Given the description of an element on the screen output the (x, y) to click on. 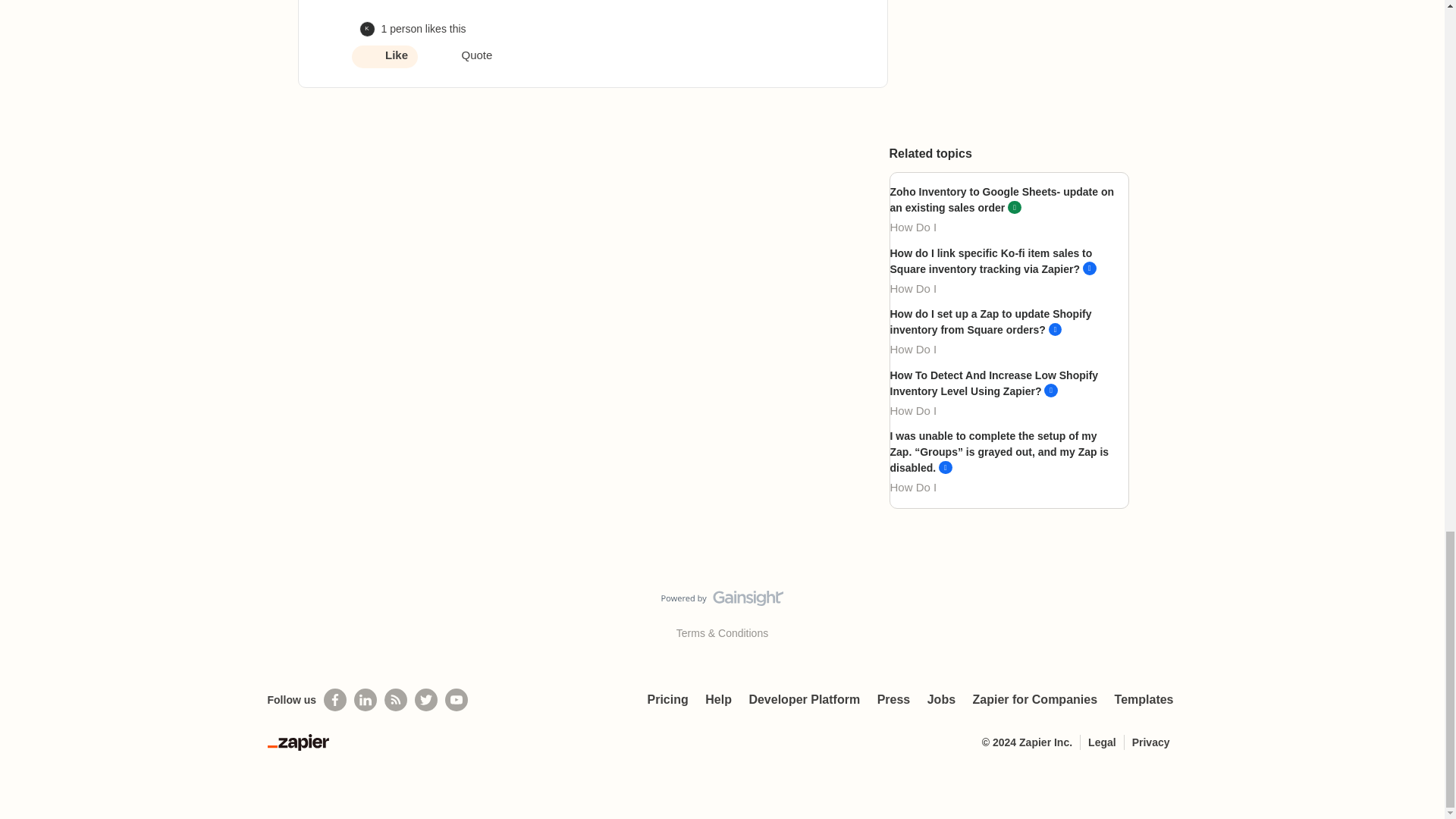
Follow us on Facebook (334, 699)
Subscribe to our blog (395, 699)
Visit Gainsight.com (722, 601)
Follow us on LinkedIn (365, 699)
See helpful Zapier videos on Youtube (456, 699)
